Given the description of an element on the screen output the (x, y) to click on. 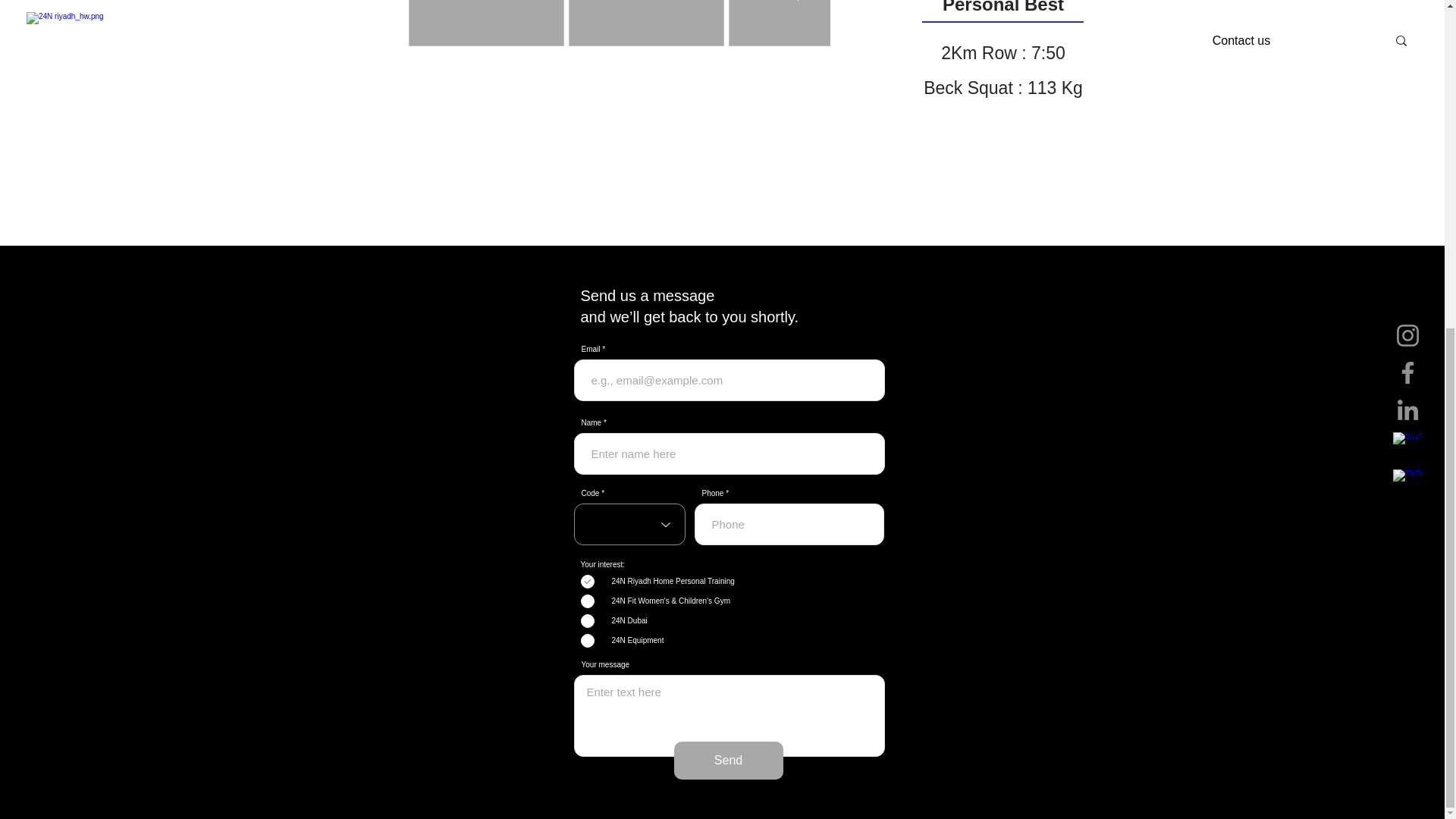
Send (727, 760)
